Given the description of an element on the screen output the (x, y) to click on. 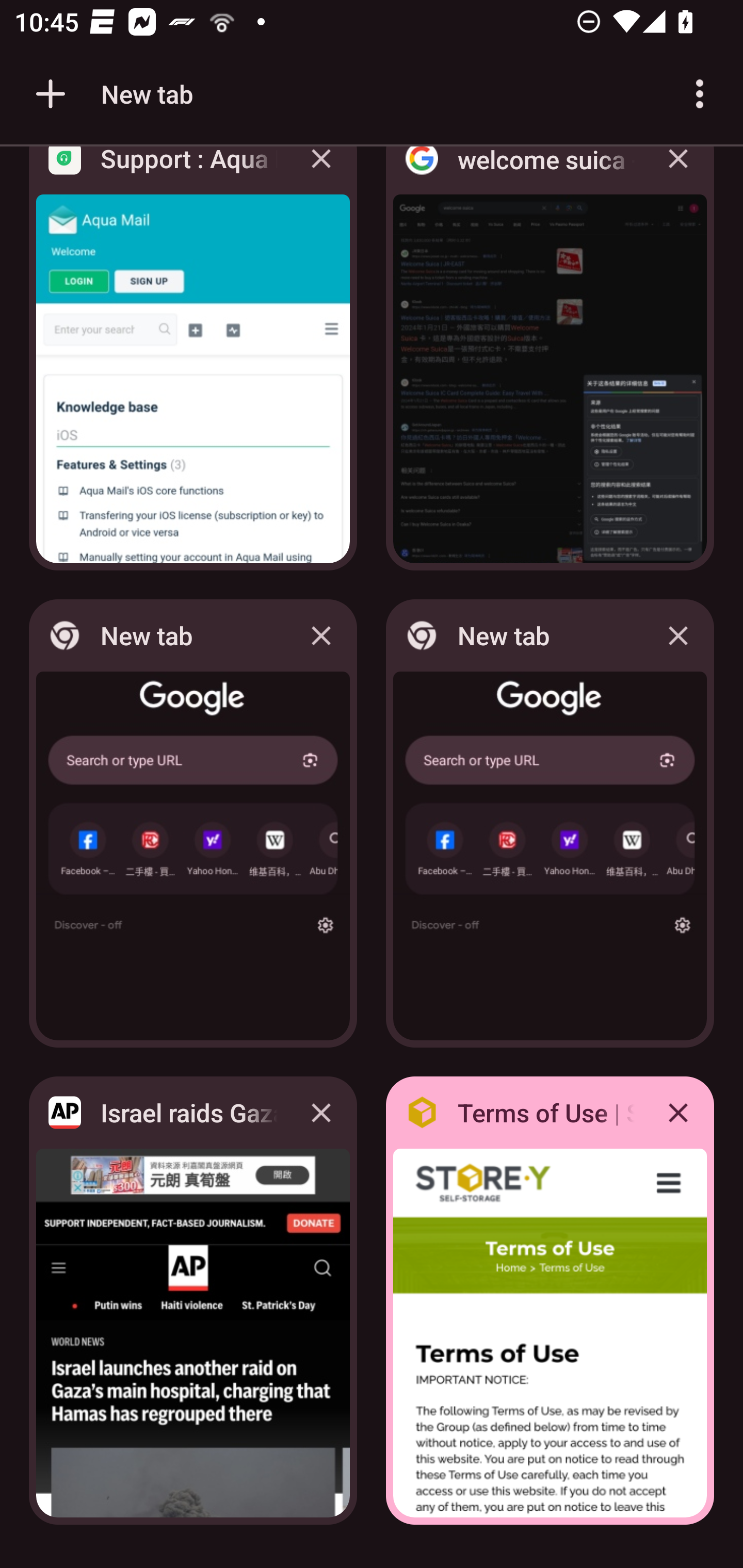
New tab (111, 93)
Customize and control Google Chrome (699, 93)
Close Support : Aqua Mail tab (320, 173)
Close welcome suica - Google 搜索 tab (677, 173)
New tab New tab, tab Close New tab tab (192, 822)
New tab New tab, tab Close New tab tab (549, 822)
Close New tab tab (320, 635)
Close New tab tab (677, 635)
Close Terms of Use | Store-Y Self Storage tab (677, 1112)
